Given the description of an element on the screen output the (x, y) to click on. 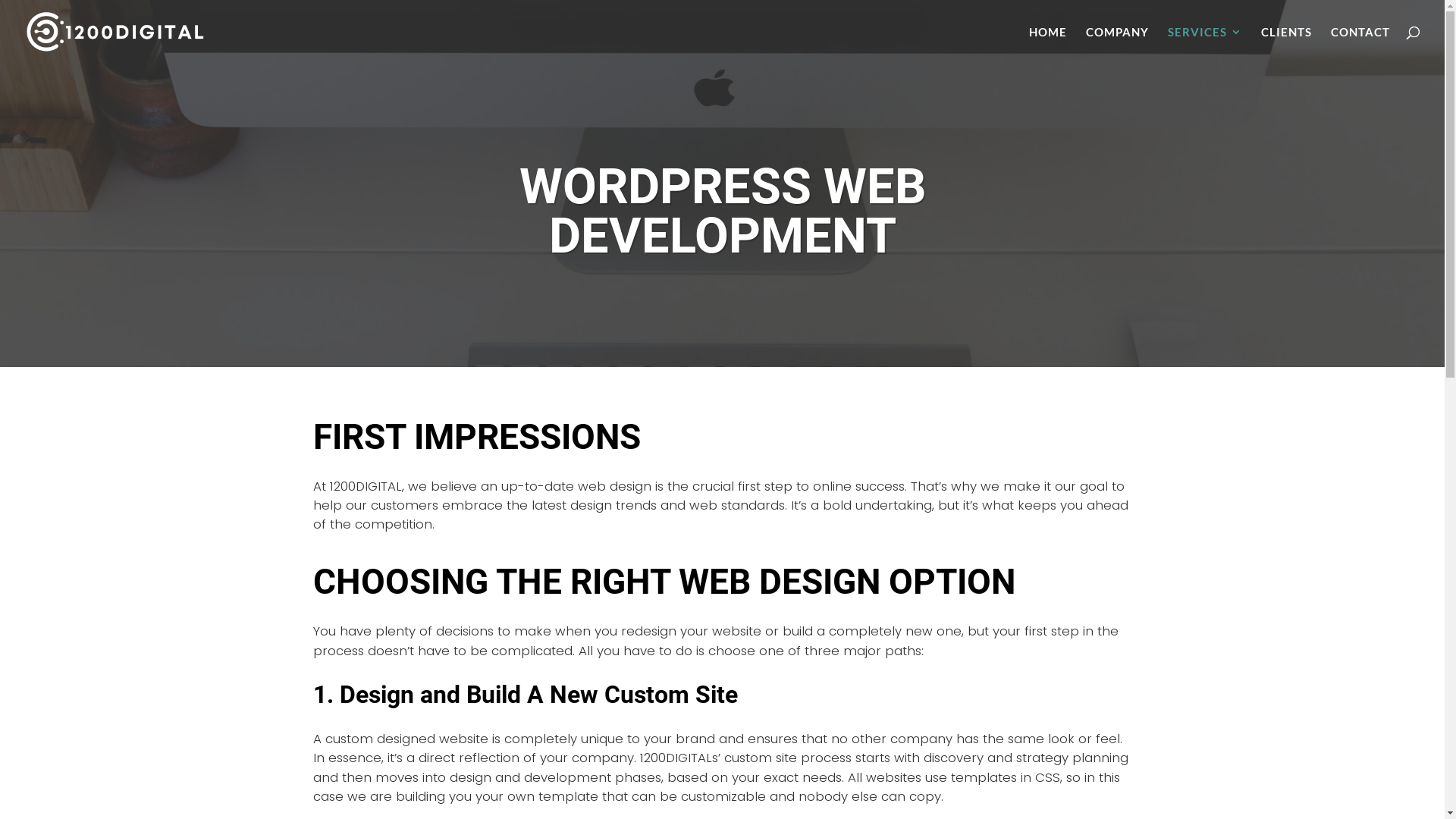
COMPANY Element type: text (1116, 44)
SERVICES Element type: text (1204, 44)
CONTACT Element type: text (1360, 44)
CLIENTS Element type: text (1286, 44)
HOME Element type: text (1047, 44)
